Given the description of an element on the screen output the (x, y) to click on. 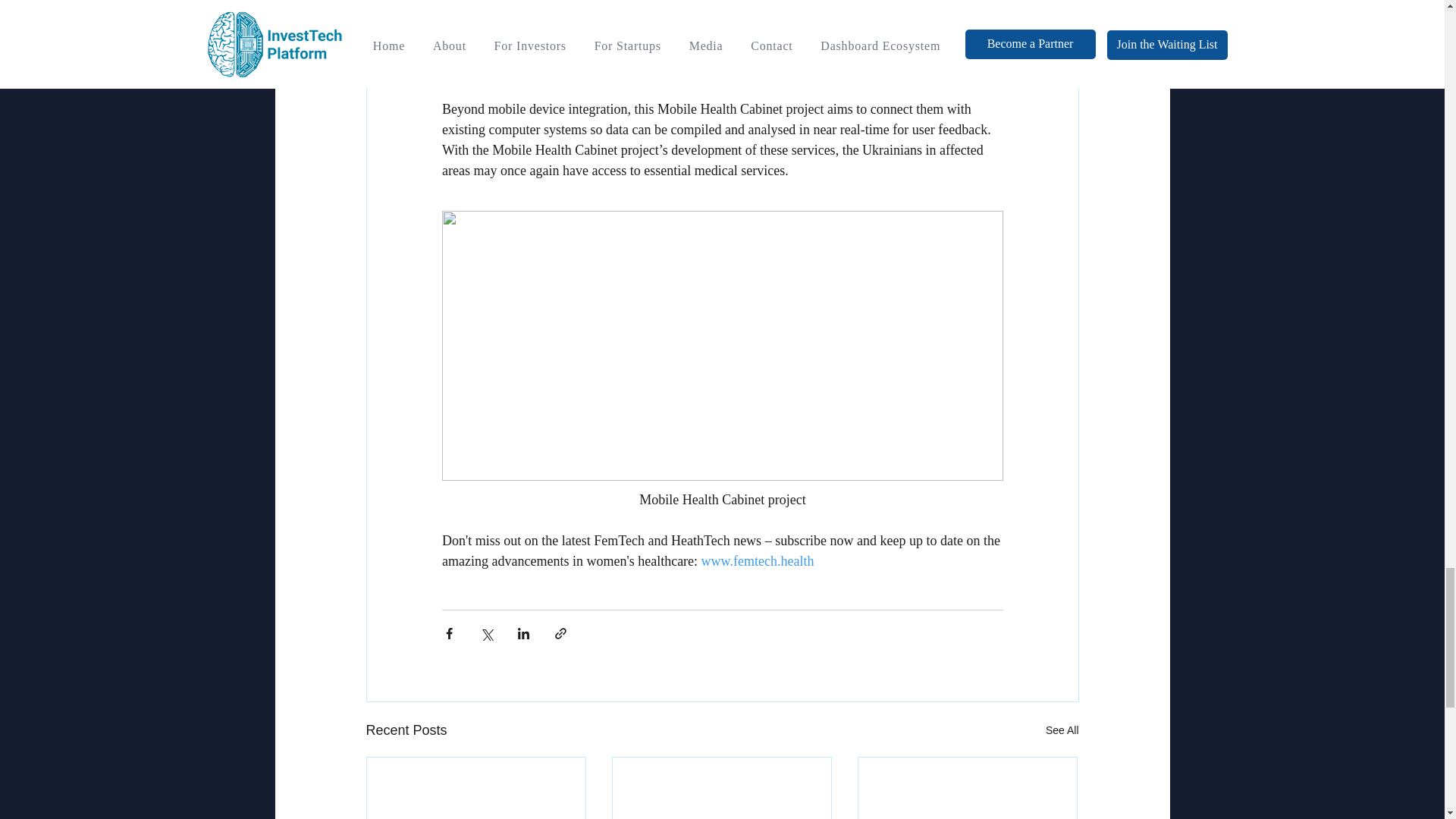
www.femtech.health (756, 560)
See All (1061, 730)
